Given the description of an element on the screen output the (x, y) to click on. 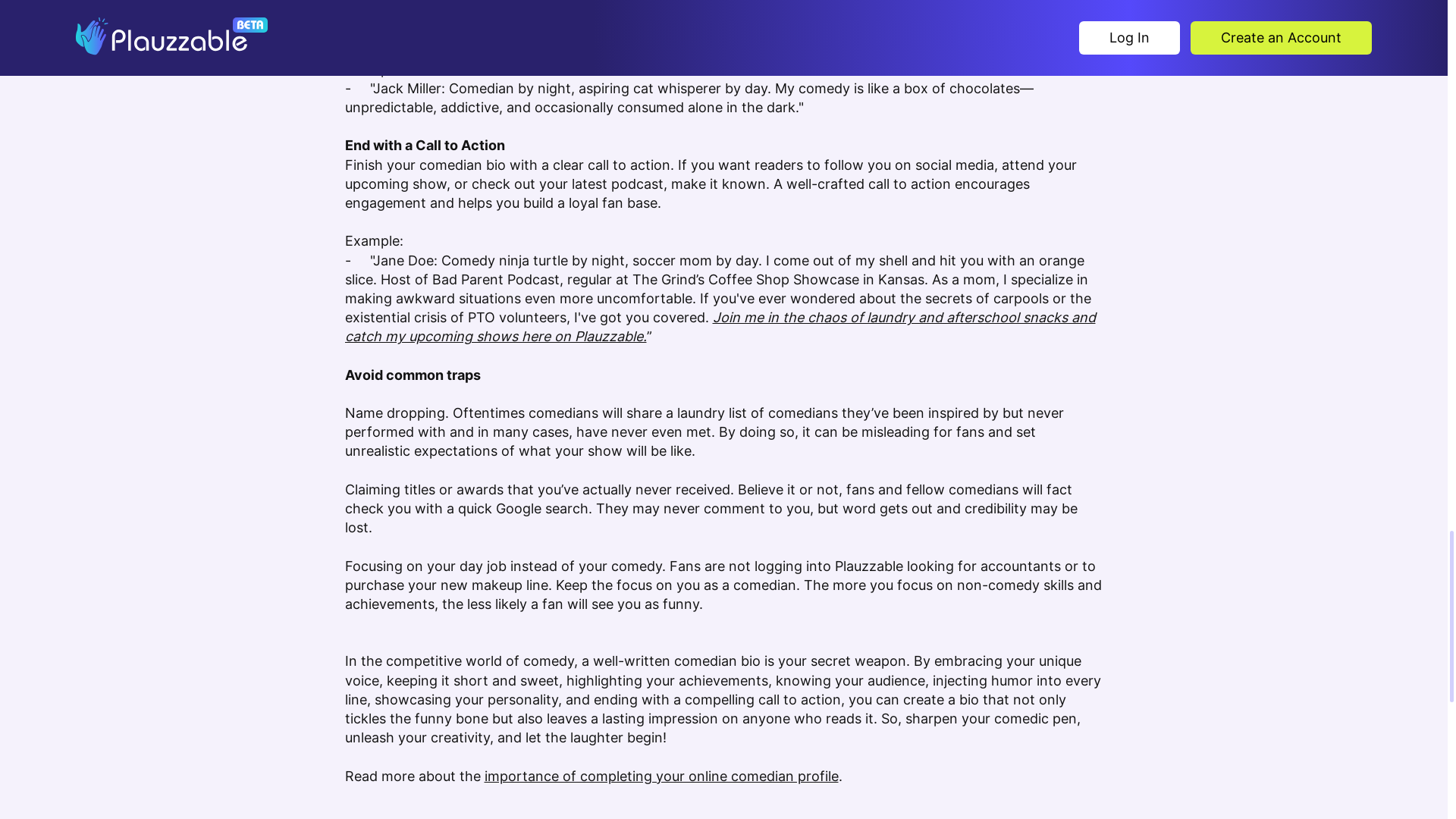
importance of completing your online comedian profile (660, 775)
